Given the description of an element on the screen output the (x, y) to click on. 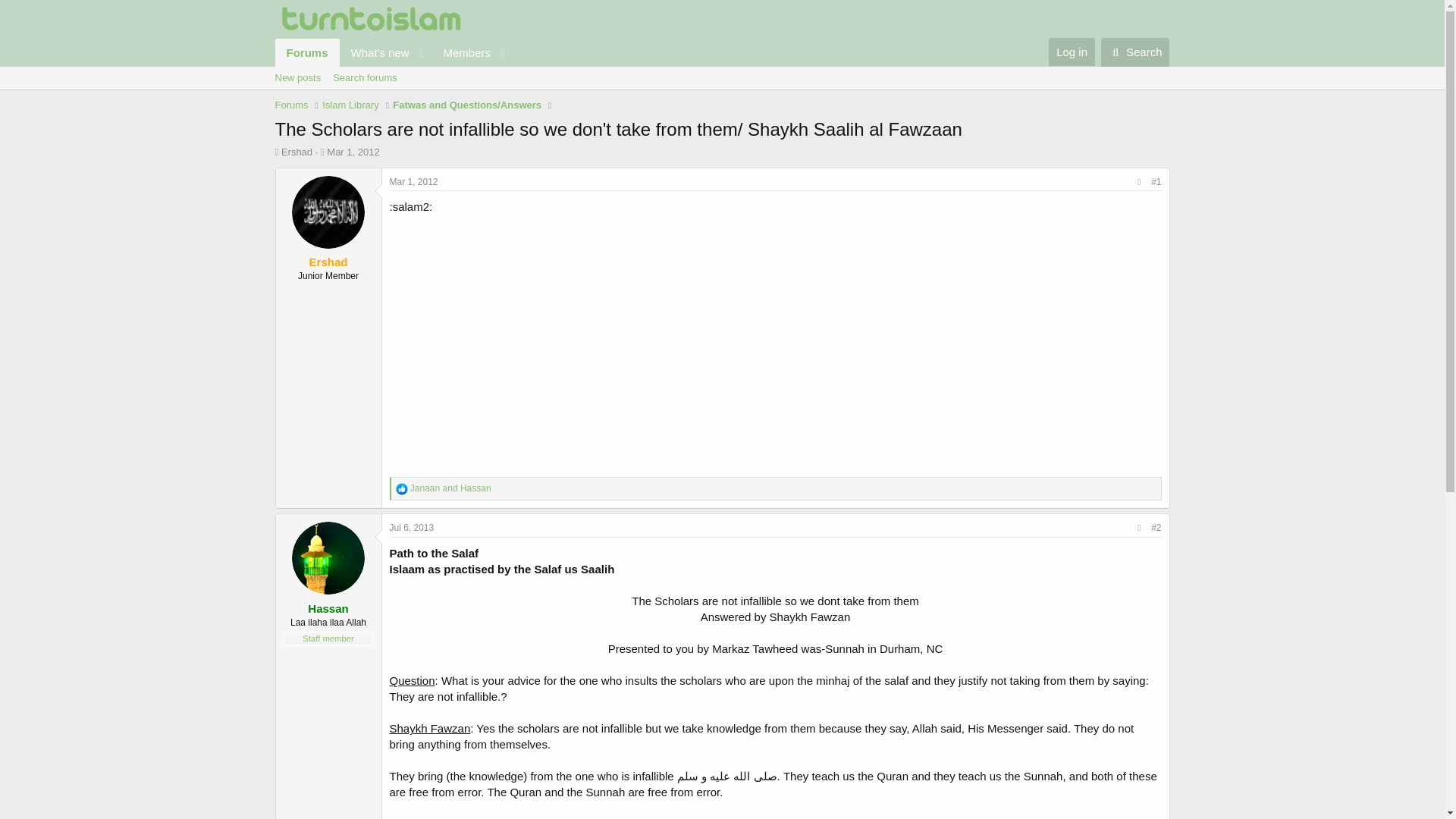
Mar 1, 2012 (414, 181)
Forums (291, 105)
Search forums (364, 77)
Ershad (297, 152)
What's new (374, 52)
Mar 1, 2012 at 7:46 PM (392, 52)
Ershad (352, 152)
New posts (327, 261)
